Given the description of an element on the screen output the (x, y) to click on. 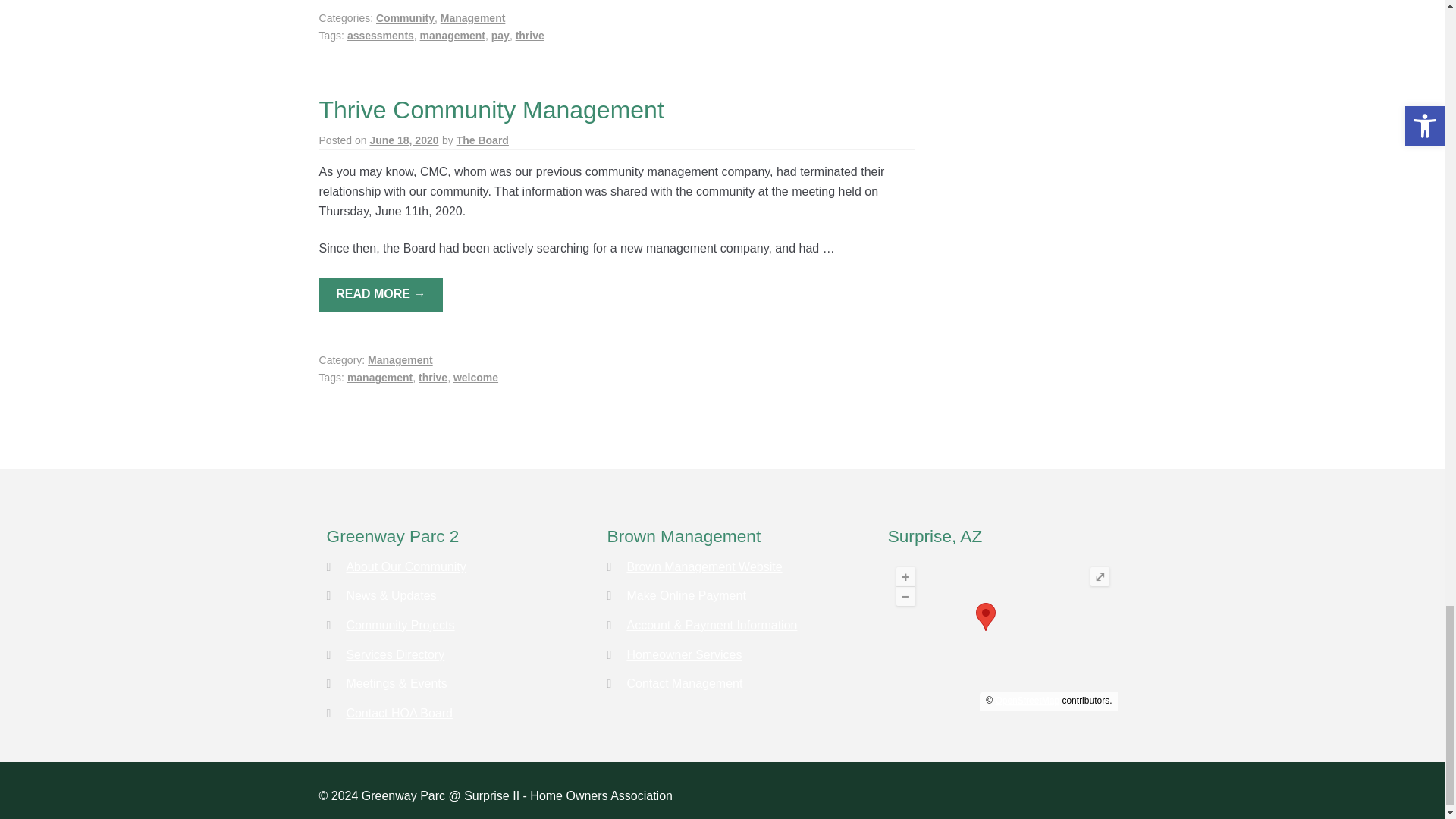
Zoom in (905, 576)
Zoom out (905, 596)
Toggle full-screen (1099, 576)
